Given the description of an element on the screen output the (x, y) to click on. 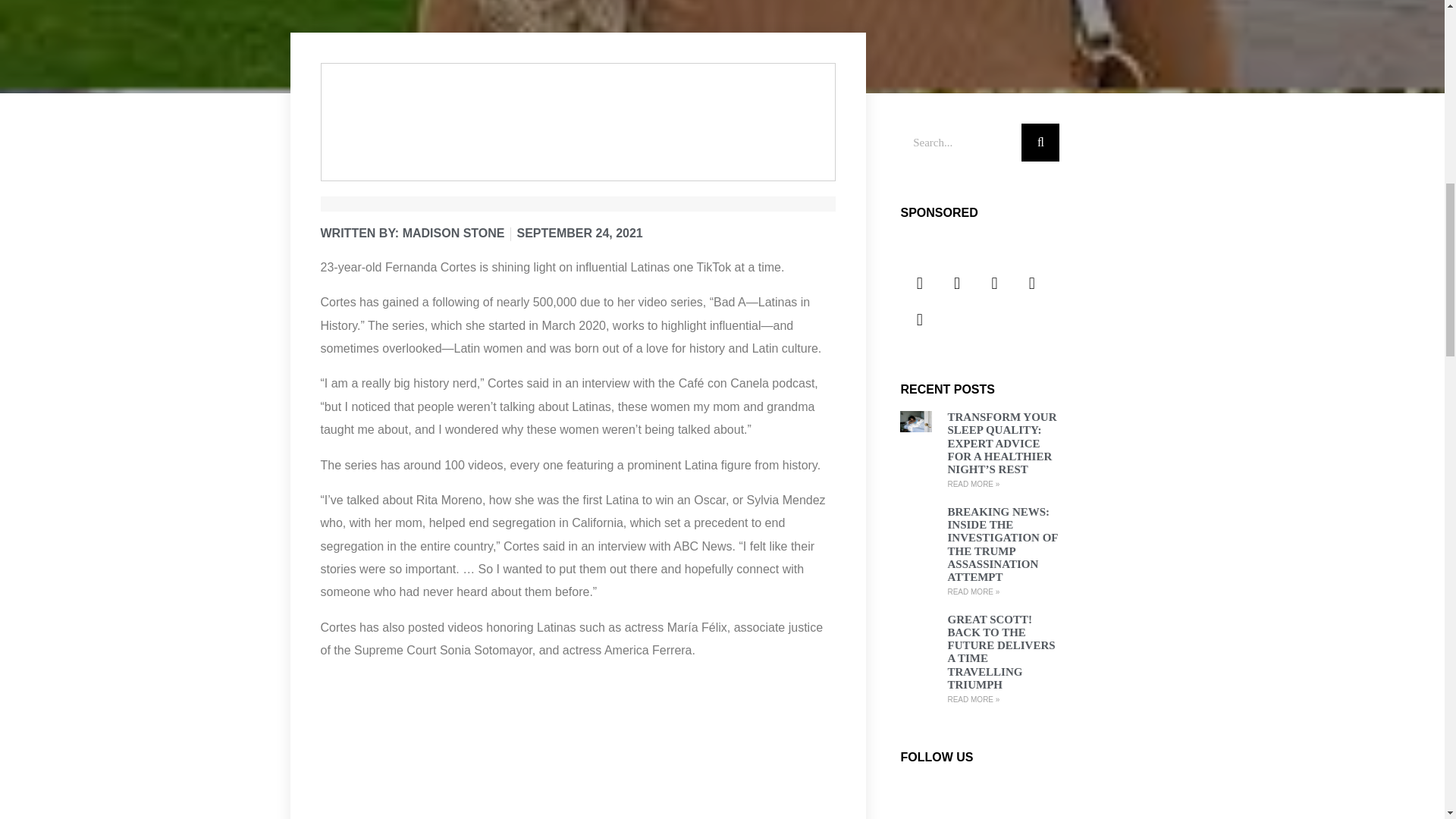
Search (960, 142)
